Given the description of an element on the screen output the (x, y) to click on. 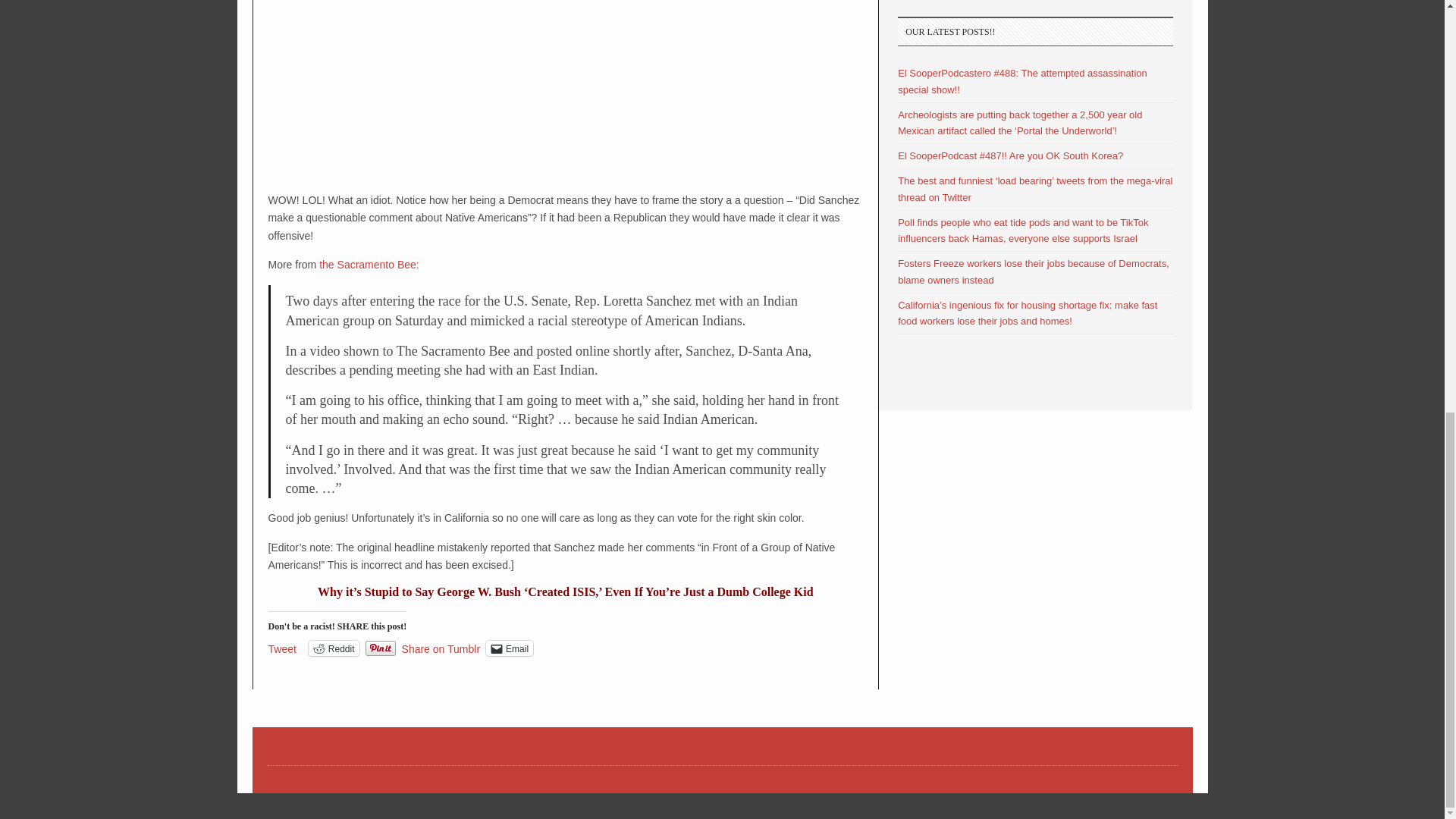
Share on Tumblr (440, 647)
Email (509, 648)
Share on Tumblr (440, 647)
Click to email a link to a friend (509, 648)
the Sacramento Bee: (368, 264)
OUR LATEST POSTS!! (1035, 30)
Tweet (282, 647)
Reddit (333, 648)
Click to share on Reddit (333, 648)
